Given the description of an element on the screen output the (x, y) to click on. 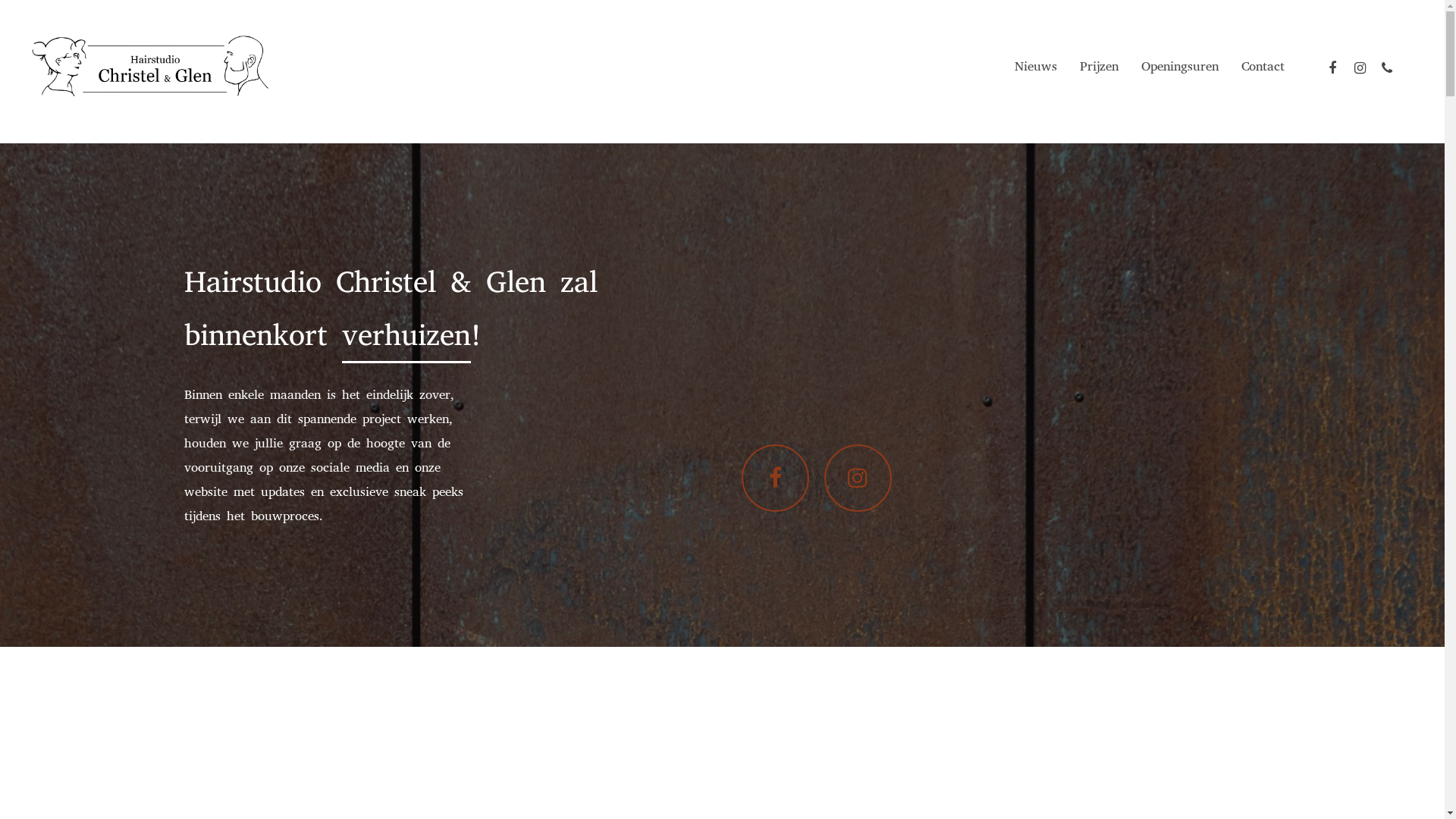
Prijzen Element type: text (1098, 67)
Nieuws Element type: text (1035, 67)
Contact Element type: text (1262, 67)
Openingsuren Element type: text (1179, 67)
